Given the description of an element on the screen output the (x, y) to click on. 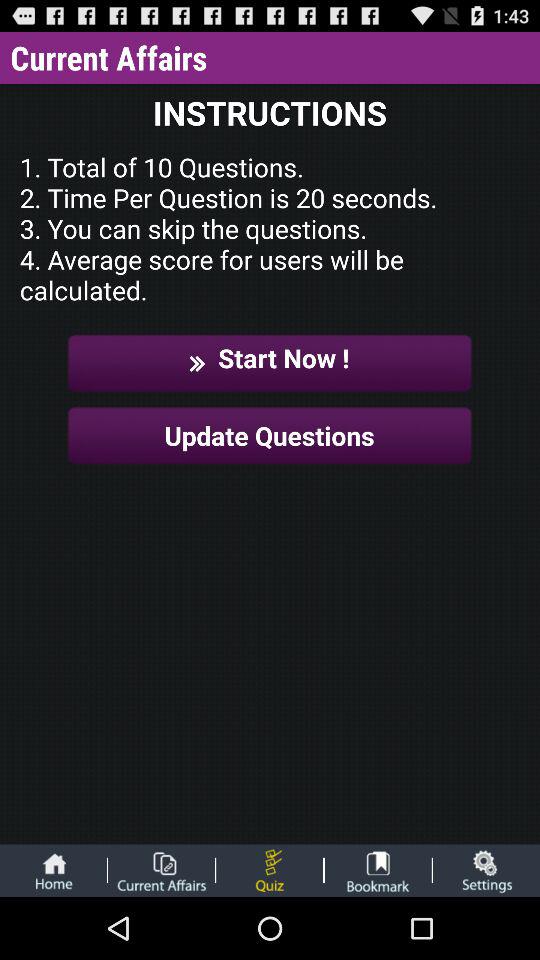
choose icon below the update questions (377, 870)
